Given the description of an element on the screen output the (x, y) to click on. 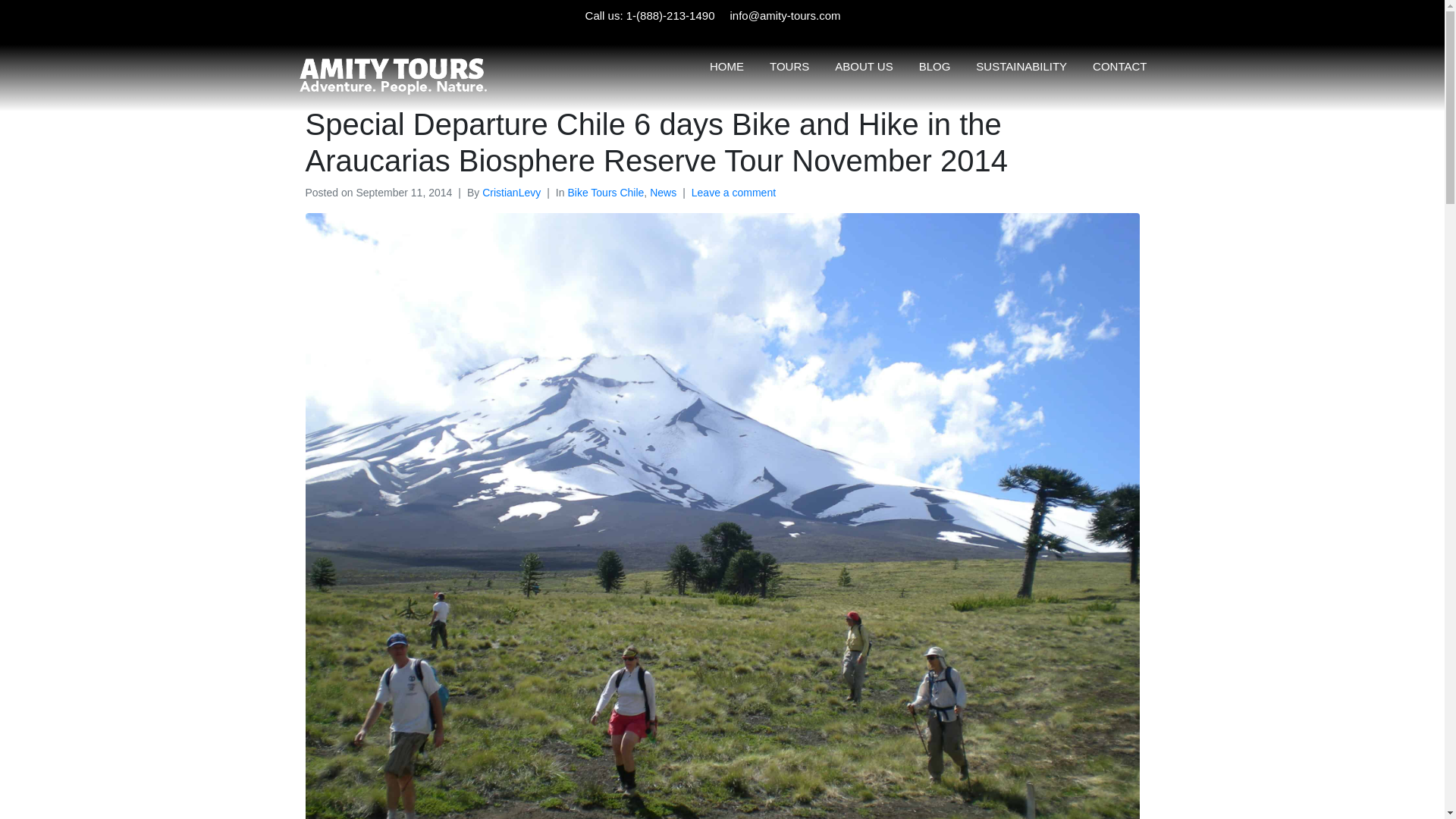
ABOUT US (863, 65)
TOURS (789, 65)
HOME (727, 65)
